Given the description of an element on the screen output the (x, y) to click on. 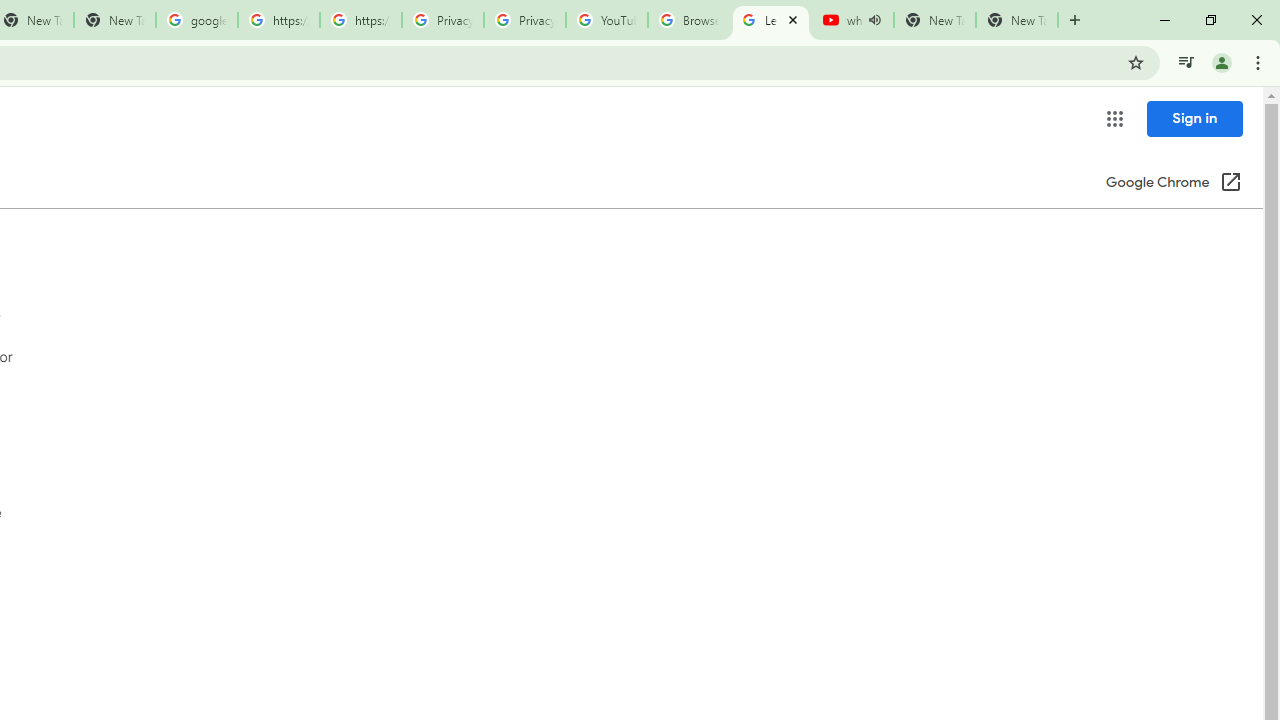
https://scholar.google.com/ (360, 20)
Mute tab (874, 20)
Browse Chrome as a guest - Computer - Google Chrome Help (688, 20)
YouTube (606, 20)
